Given the description of an element on the screen output the (x, y) to click on. 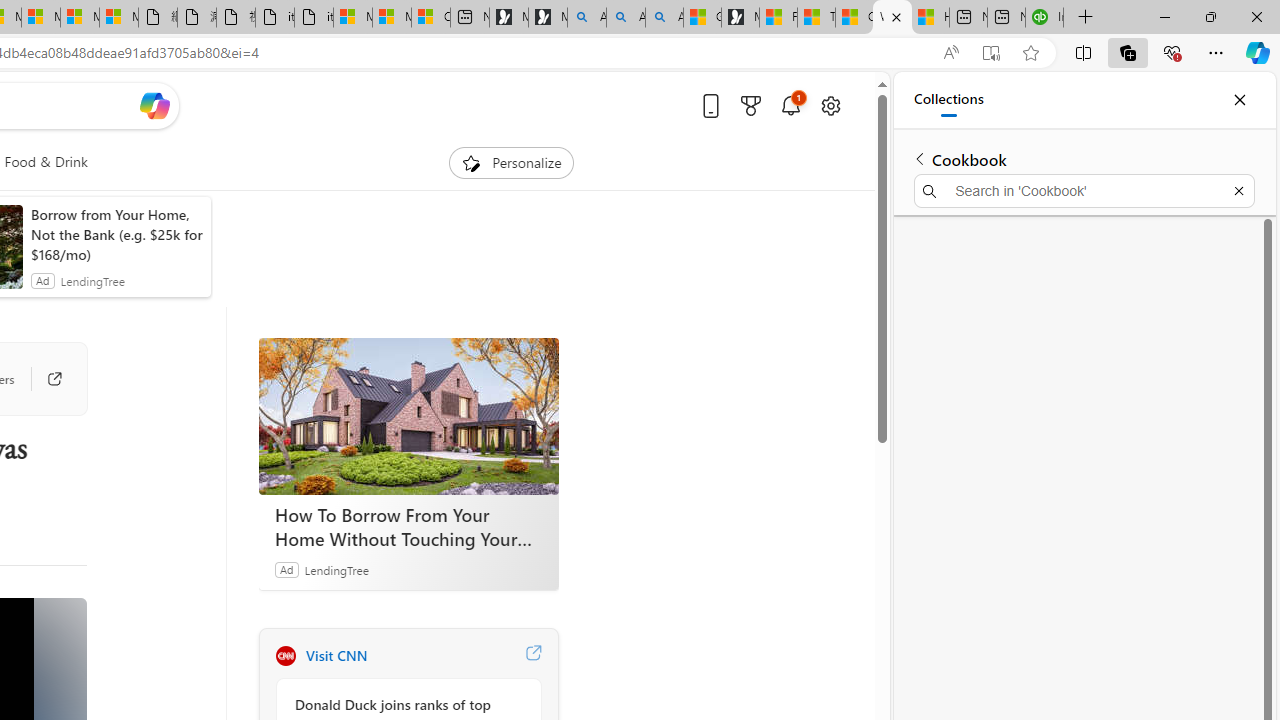
Borrow from Your Home, Not the Bank (e.g. $25k for $168/mo) (116, 234)
Search in 'Cookbook' (1084, 190)
